Given the description of an element on the screen output the (x, y) to click on. 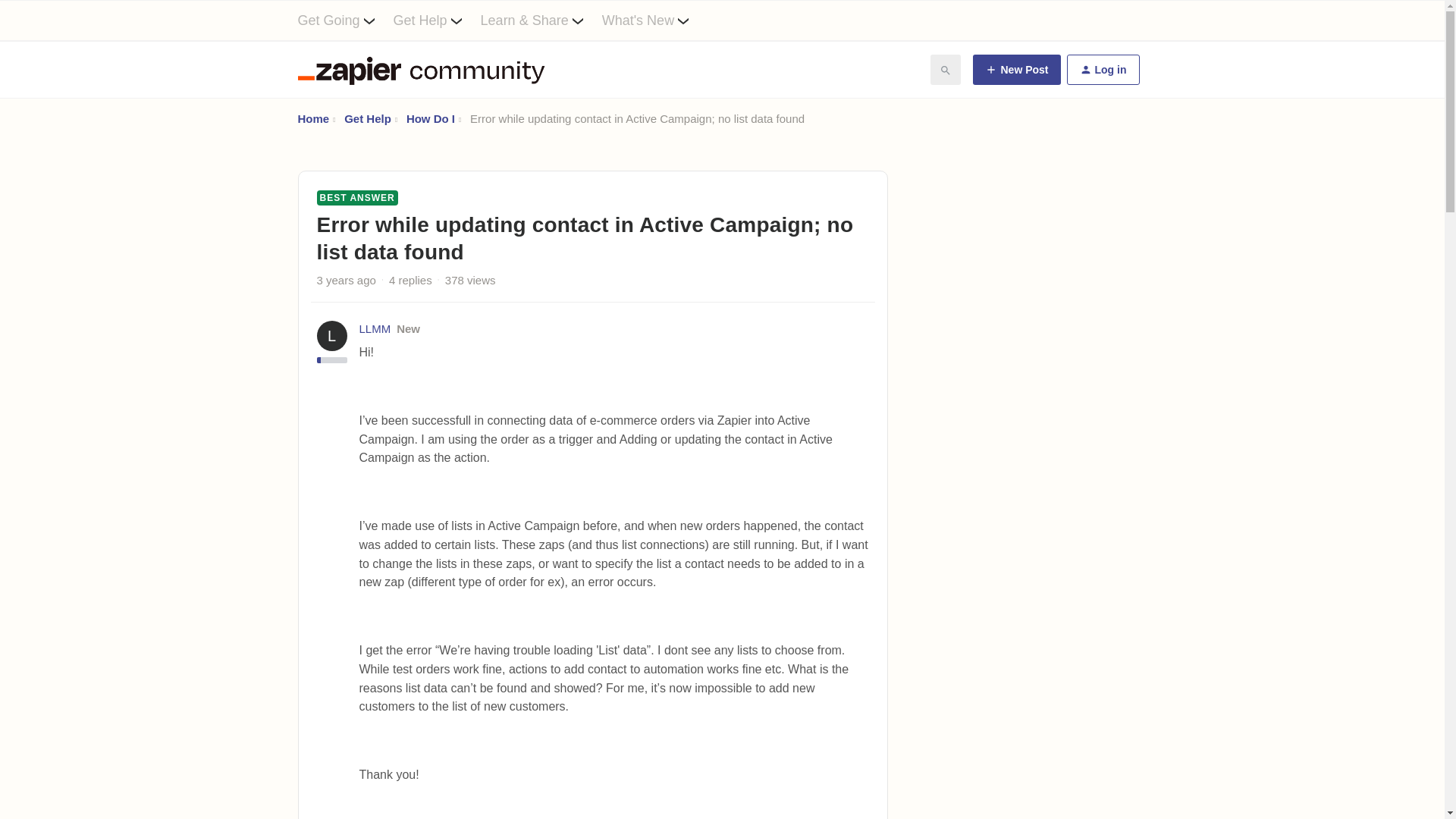
New Post (1015, 69)
Log in (1101, 69)
New Post (1015, 69)
Home (313, 118)
Get Help (436, 20)
Get Going (345, 20)
What's New (654, 20)
New (408, 328)
